Given the description of an element on the screen output the (x, y) to click on. 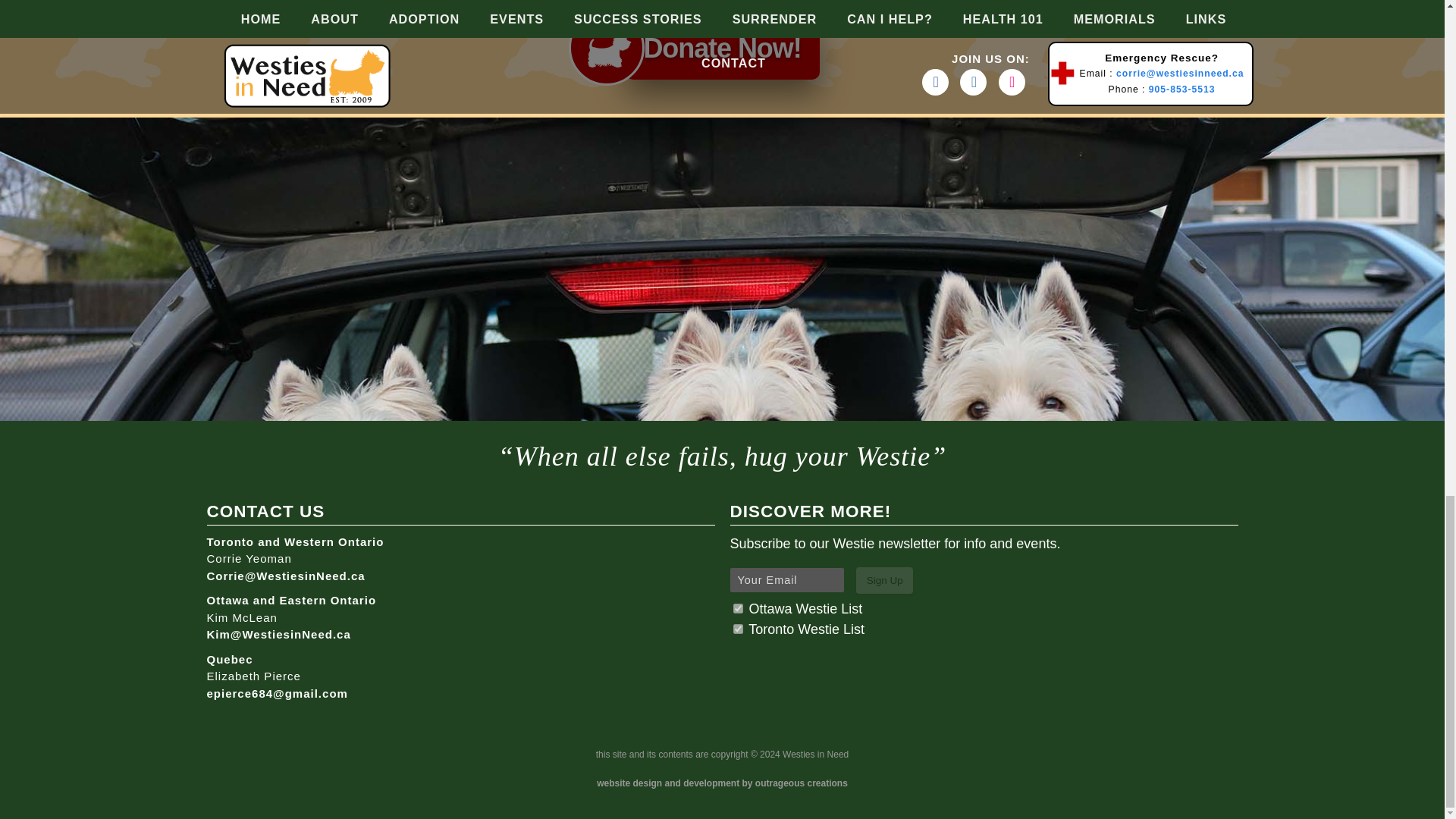
429717 (737, 628)
429719 (737, 608)
Sign Up (884, 580)
